Given the description of an element on the screen output the (x, y) to click on. 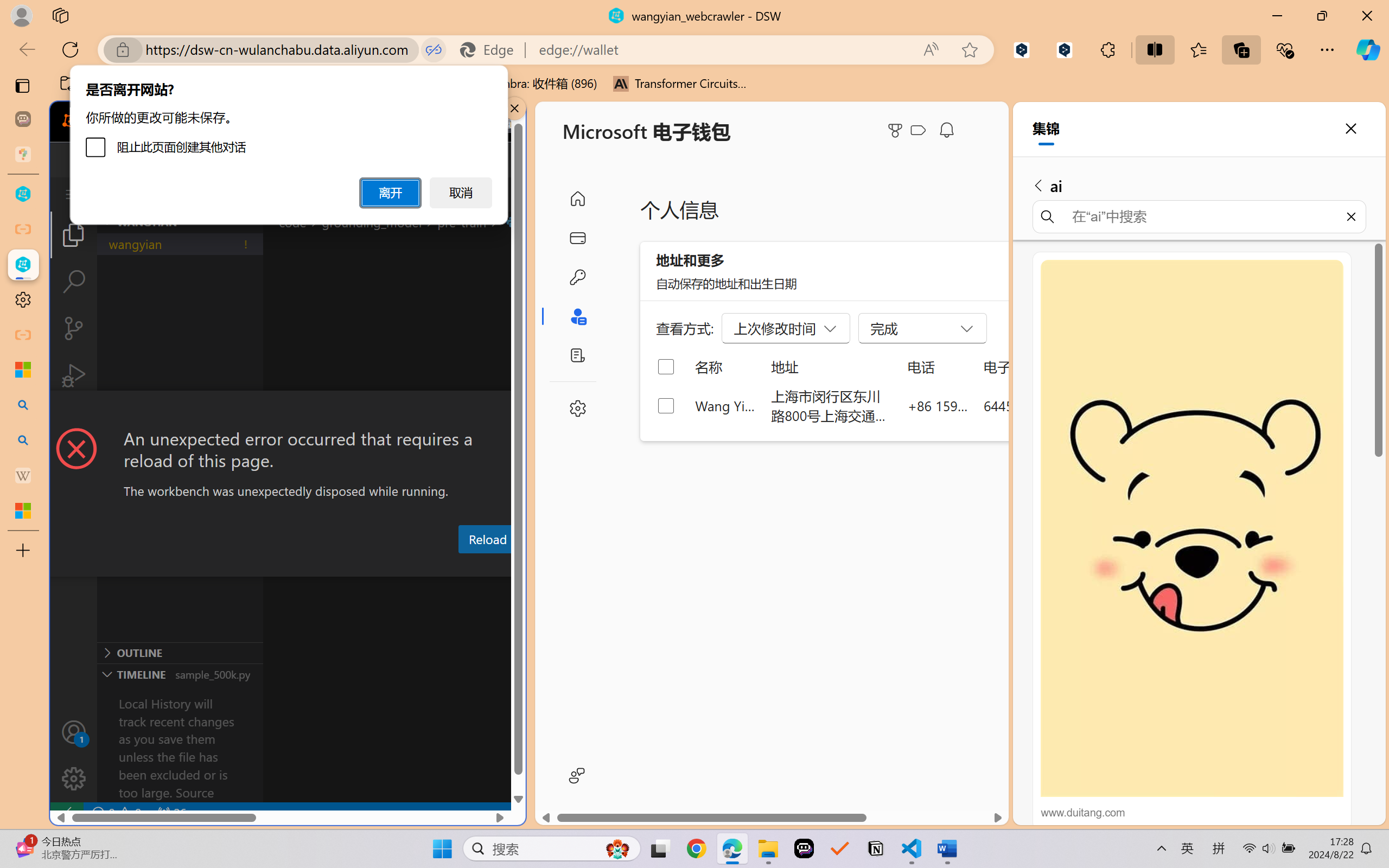
Timeline Section (179, 673)
Terminal (Ctrl+`) (553, 565)
Class: ___1lmltc5 f1agt3bx f12qytpq (917, 130)
Problems (Ctrl+Shift+M) (308, 565)
